Given the description of an element on the screen output the (x, y) to click on. 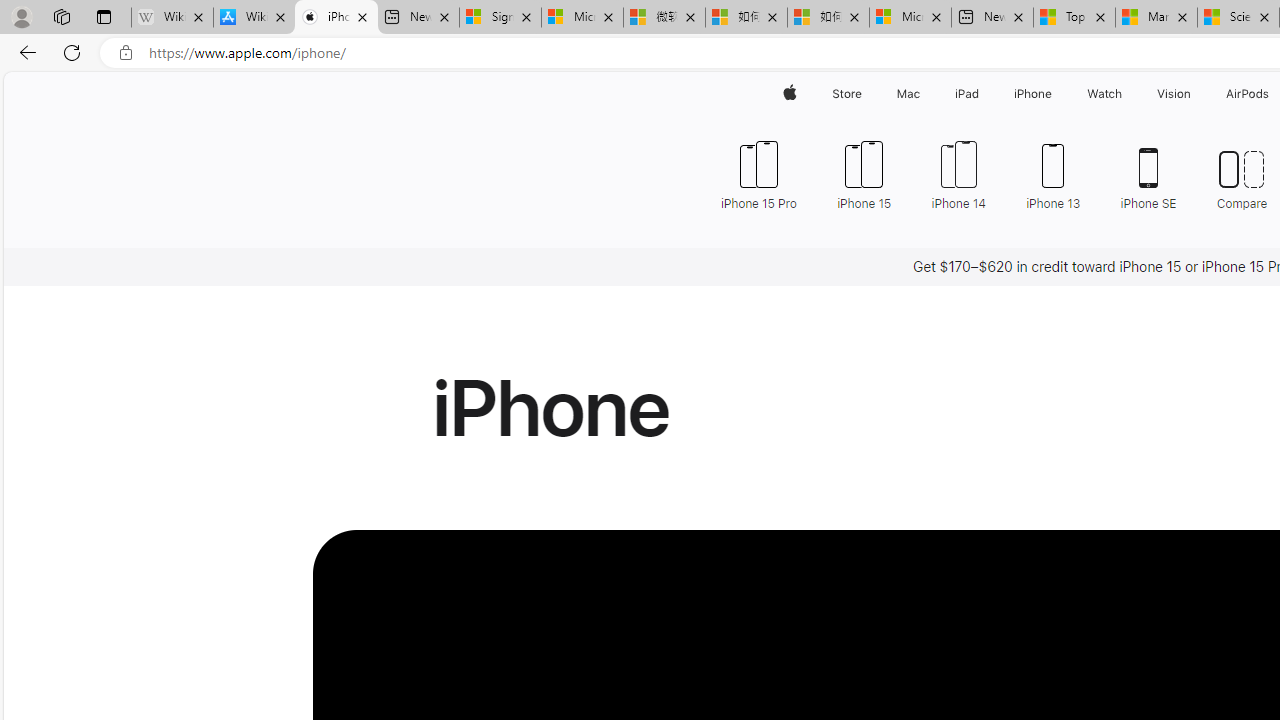
AirPods (1247, 93)
iPad (965, 93)
iPhone menu (1055, 93)
Apple (789, 93)
